Given the description of an element on the screen output the (x, y) to click on. 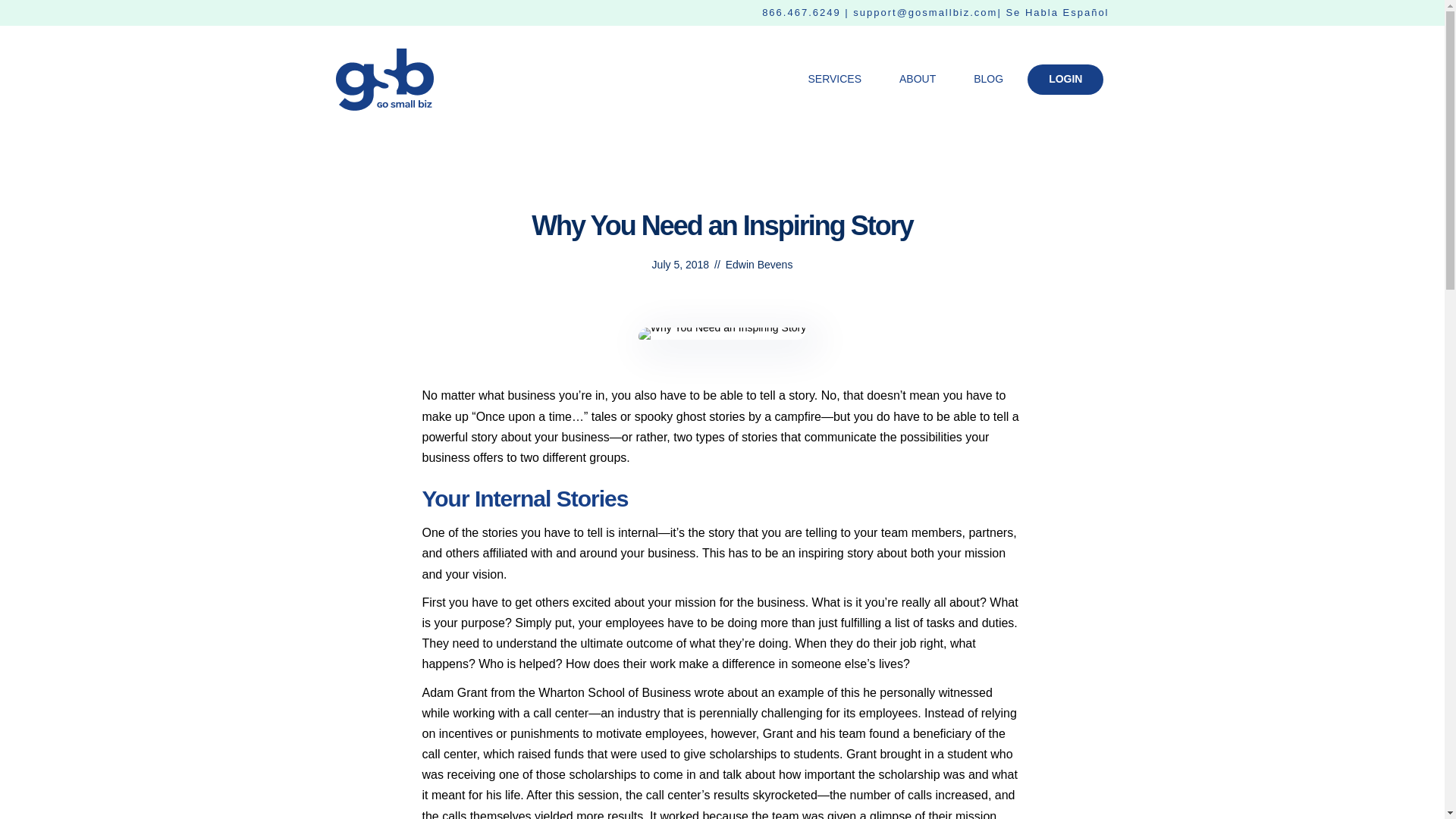
SERVICES (834, 79)
Why You Need an Inspiring Story (722, 333)
ABOUT (917, 79)
LOGIN (1065, 79)
866.467.6249 (801, 12)
BLOG (988, 79)
Edwin Bevens (759, 264)
